Given the description of an element on the screen output the (x, y) to click on. 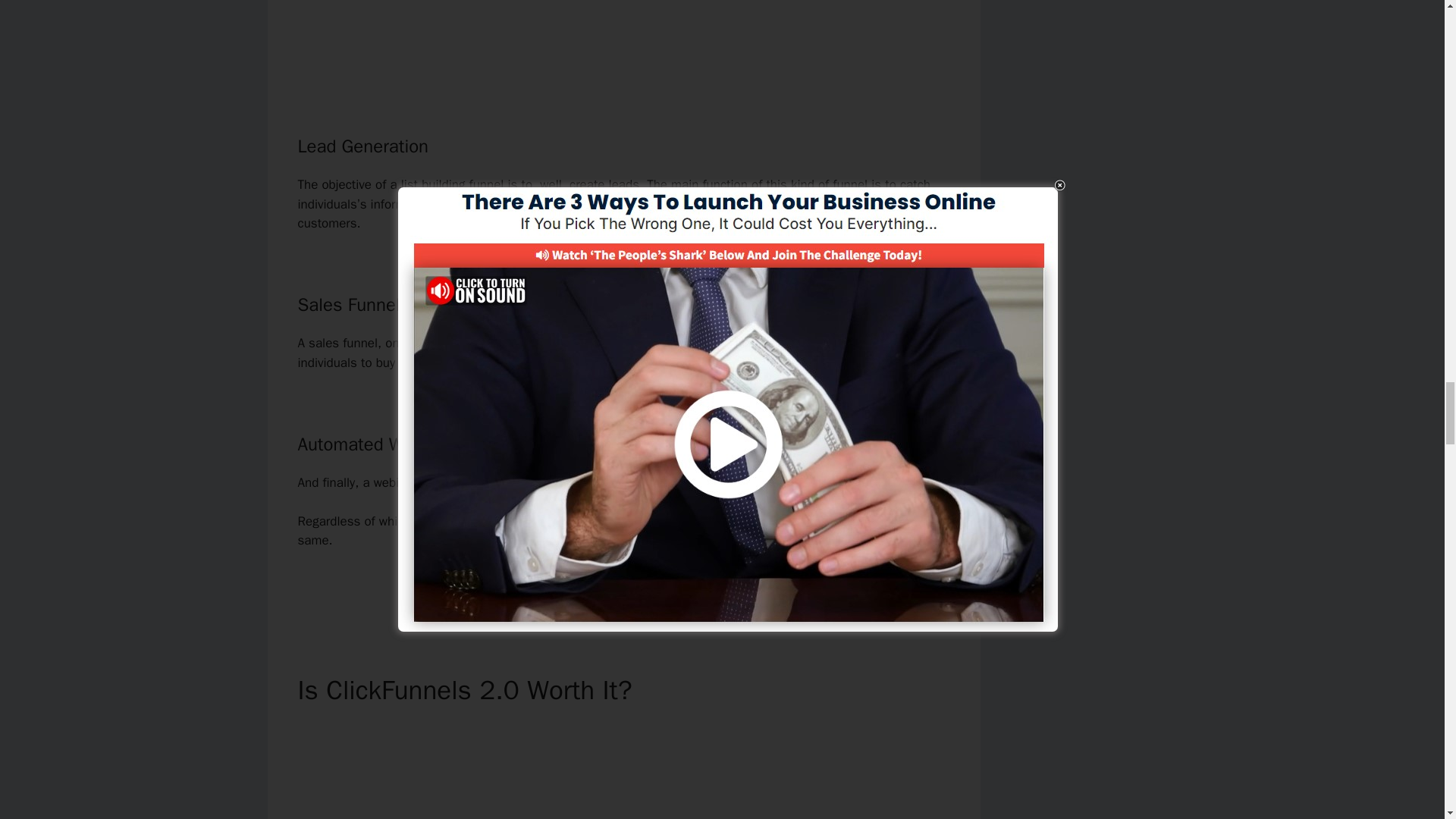
Start ClickFunnels 2.0 Free Account Here (622, 592)
